Given the description of an element on the screen output the (x, y) to click on. 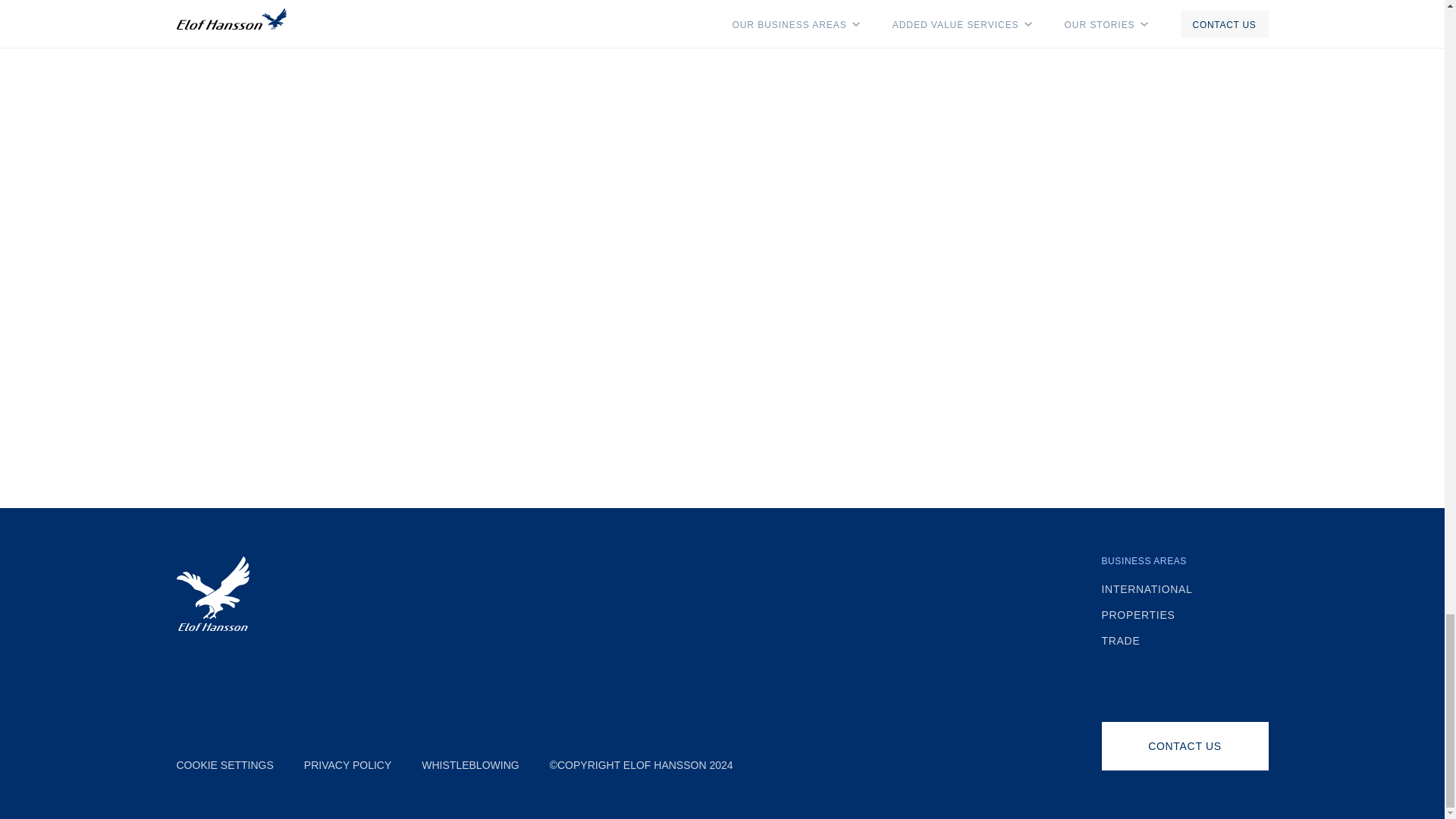
PROPERTIES (1184, 614)
WHISTLEBLOWING (470, 765)
INTERNATIONAL (1184, 588)
PRIVACY POLICY (347, 765)
TRADE (1184, 640)
CONTACT US (1184, 745)
COOKIE SETTINGS (224, 765)
